Given the description of an element on the screen output the (x, y) to click on. 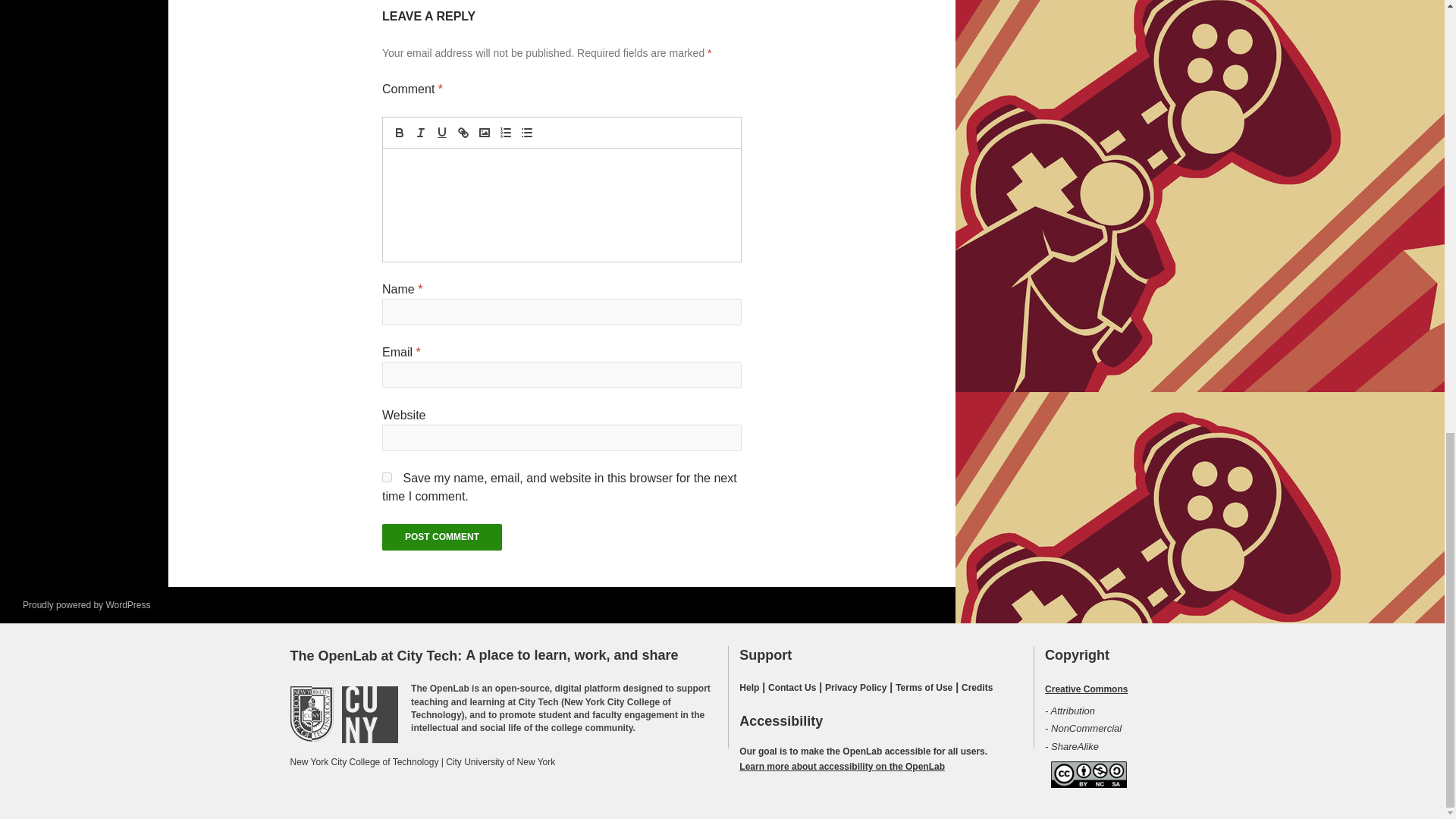
Post Comment (441, 537)
yes (386, 477)
